Given the description of an element on the screen output the (x, y) to click on. 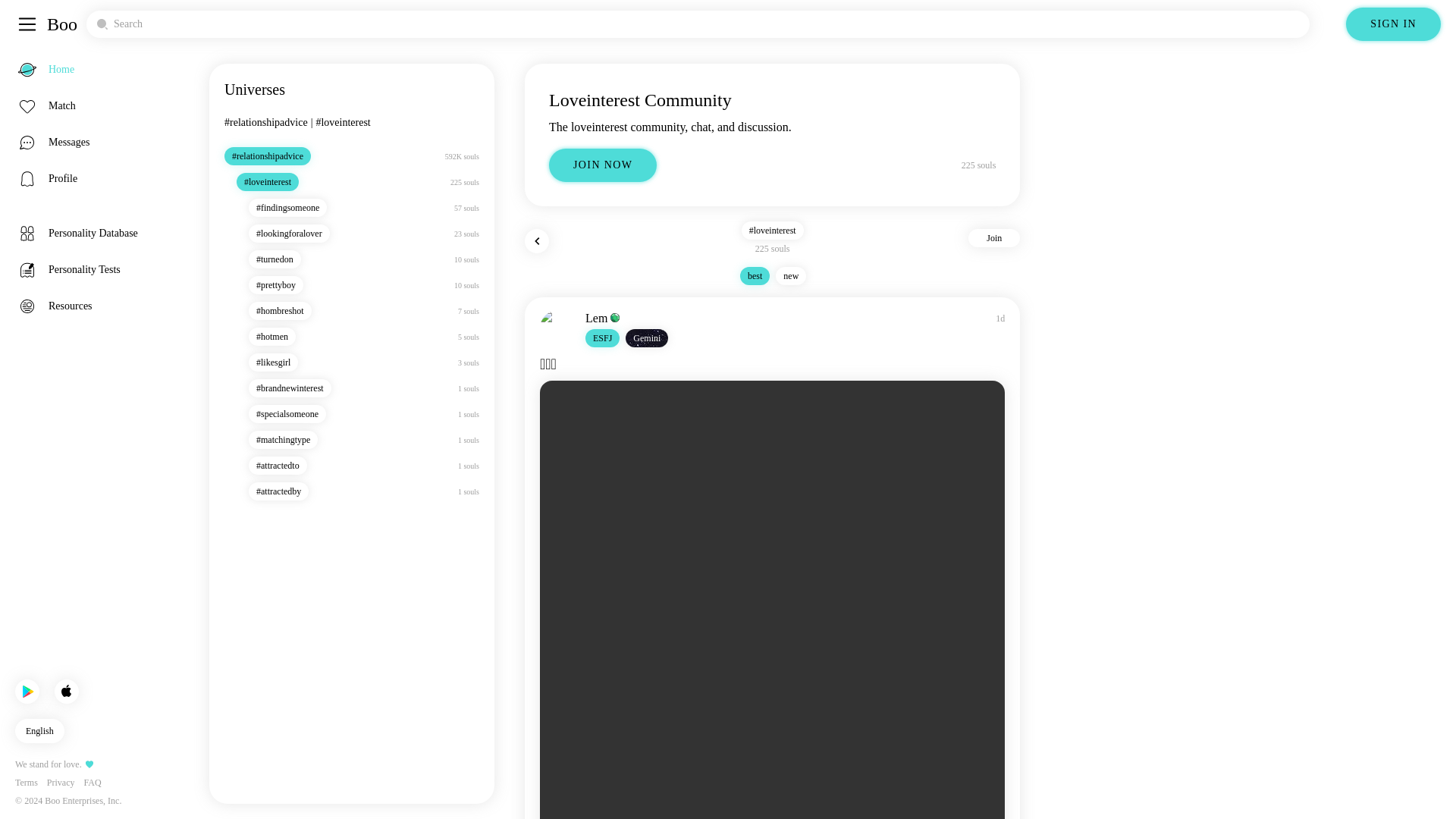
Personality Tests (105, 270)
Home (105, 69)
Boo (61, 24)
Resources (105, 306)
Privacy (60, 782)
FAQ (91, 782)
English (39, 730)
Match (105, 106)
Search (697, 23)
Terms (25, 782)
